Given the description of an element on the screen output the (x, y) to click on. 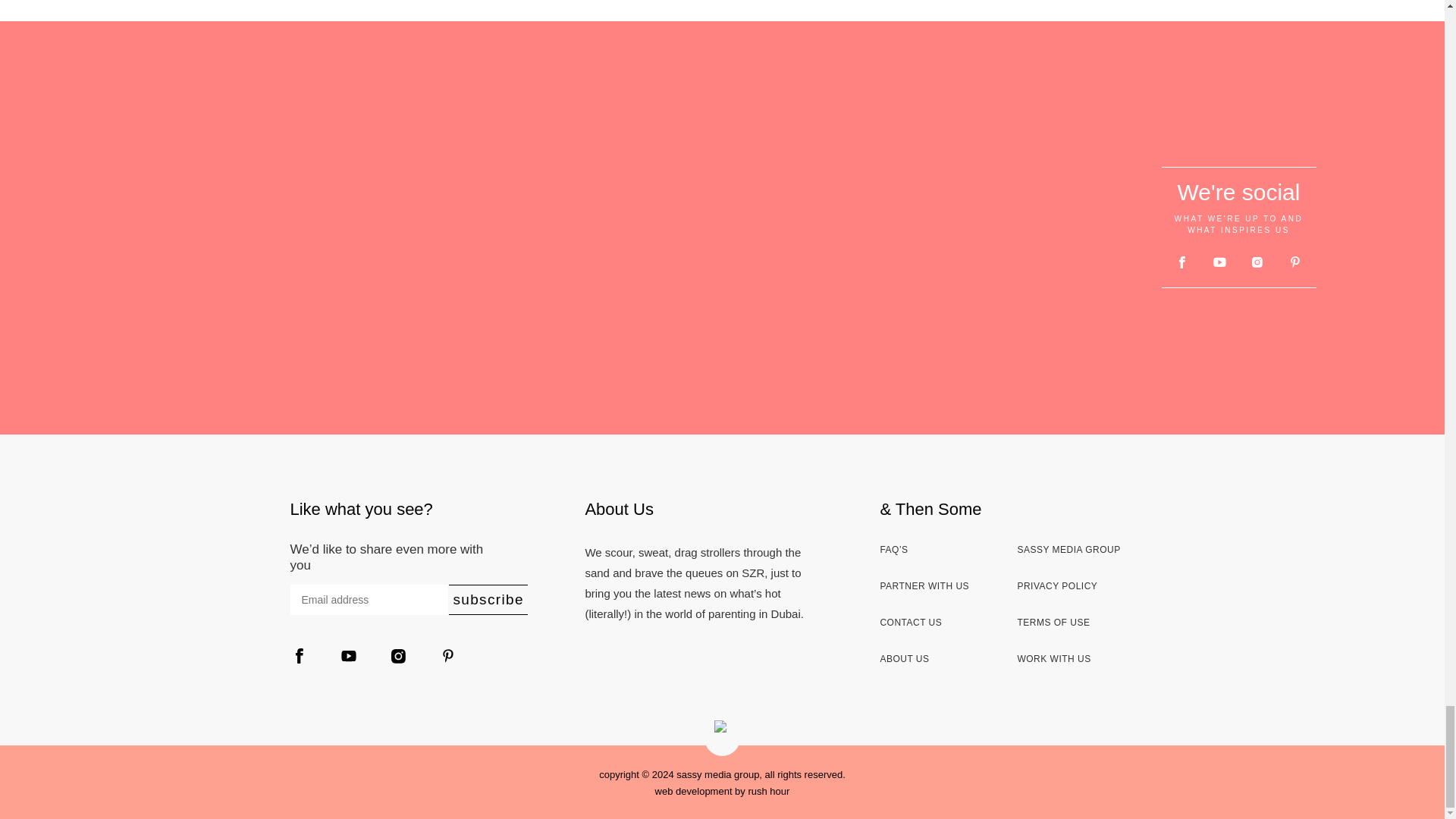
Subscribe (487, 599)
